Given the description of an element on the screen output the (x, y) to click on. 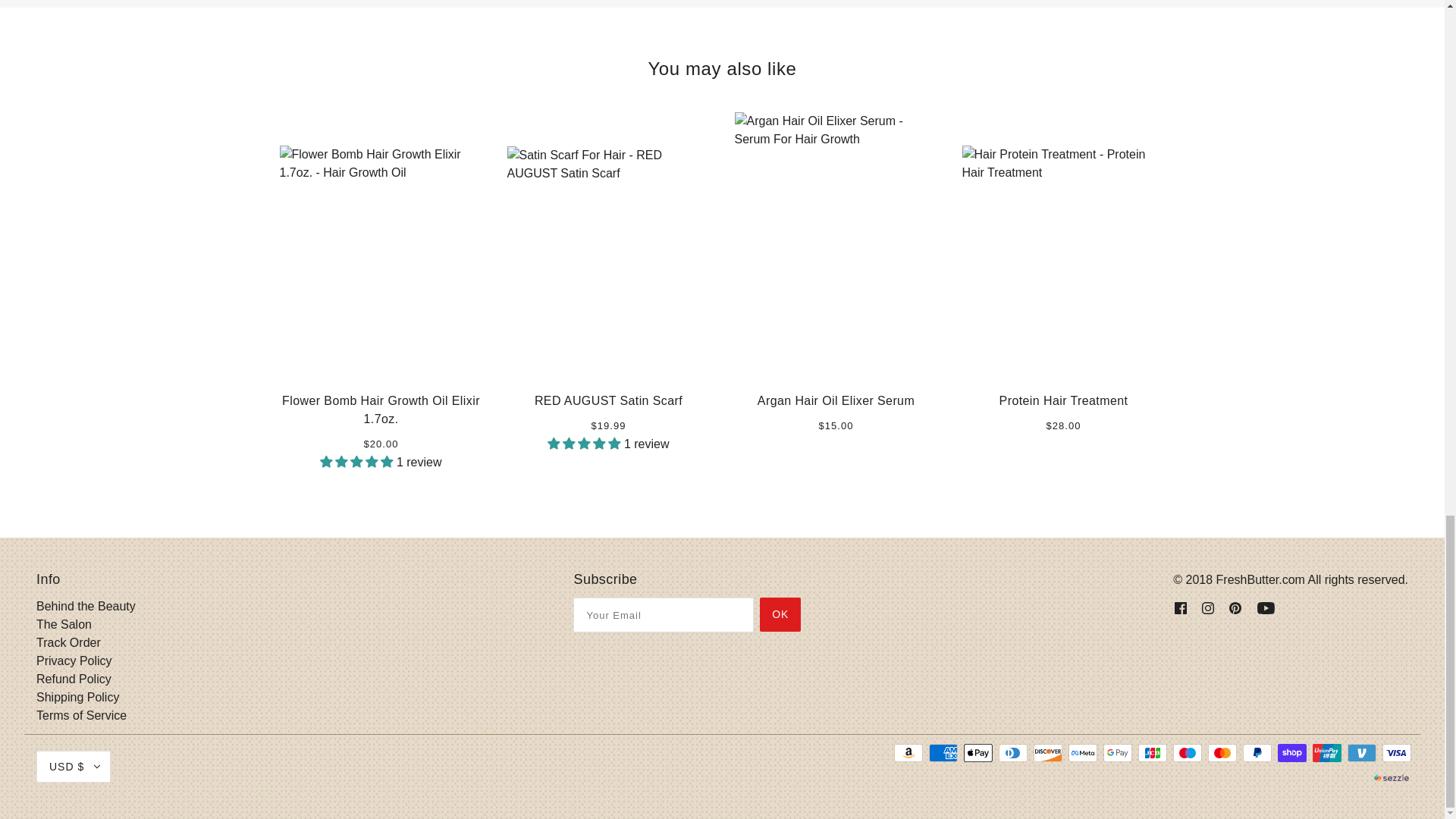
Track Order (68, 642)
Shipping Policy (77, 697)
Terms of Service (81, 715)
Refund Policy (74, 678)
The Salon (63, 624)
Diners Club (1012, 752)
Amazon (908, 752)
Apple Pay (977, 752)
Privacy Policy (74, 660)
American Express (943, 752)
Behind the Beauty (85, 605)
